Given the description of an element on the screen output the (x, y) to click on. 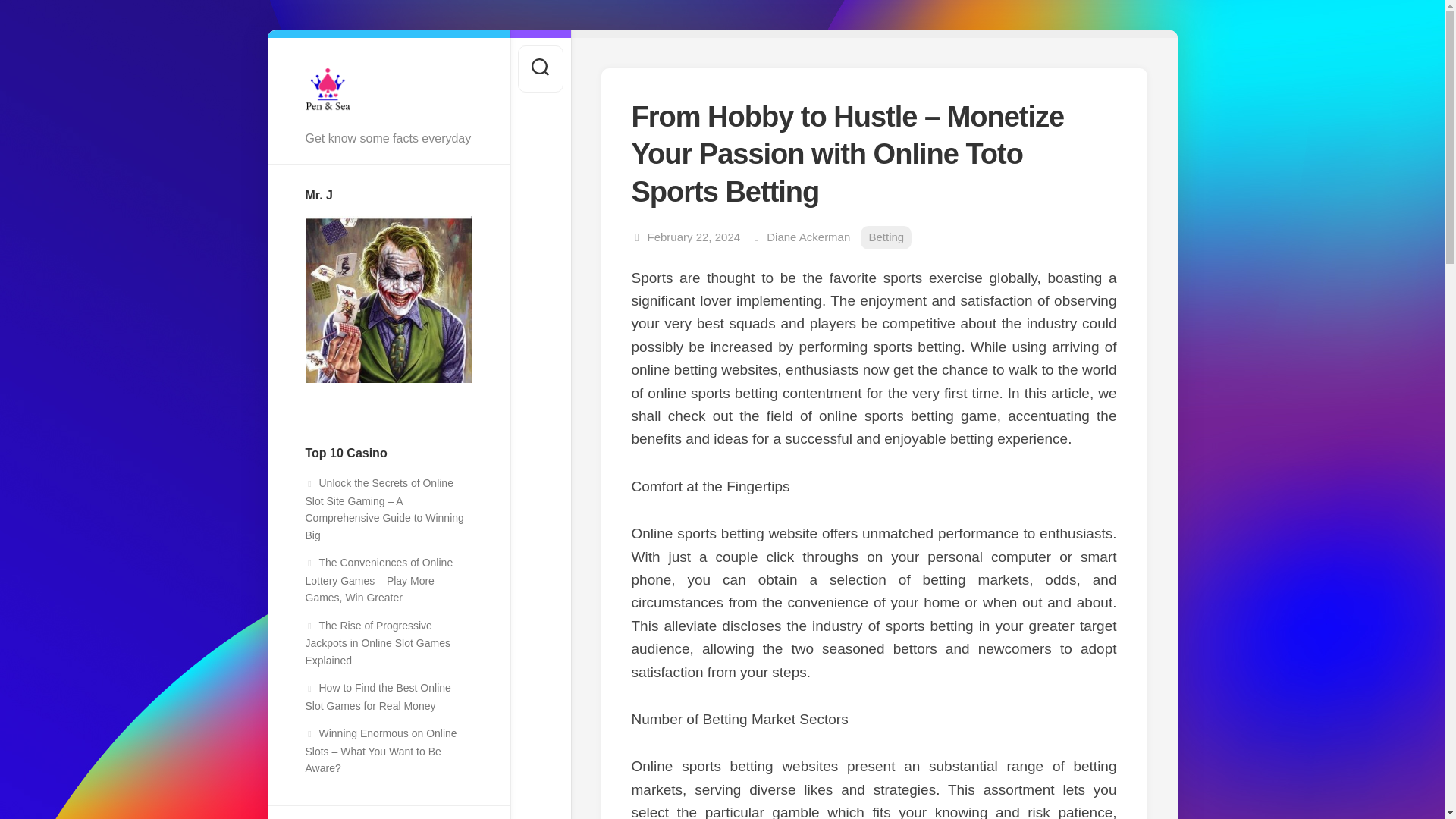
Diane Ackerman (808, 236)
How to Find the Best Online Slot Games for Real Money (376, 696)
Posts by Diane Ackerman (808, 236)
Betting (885, 237)
